Given the description of an element on the screen output the (x, y) to click on. 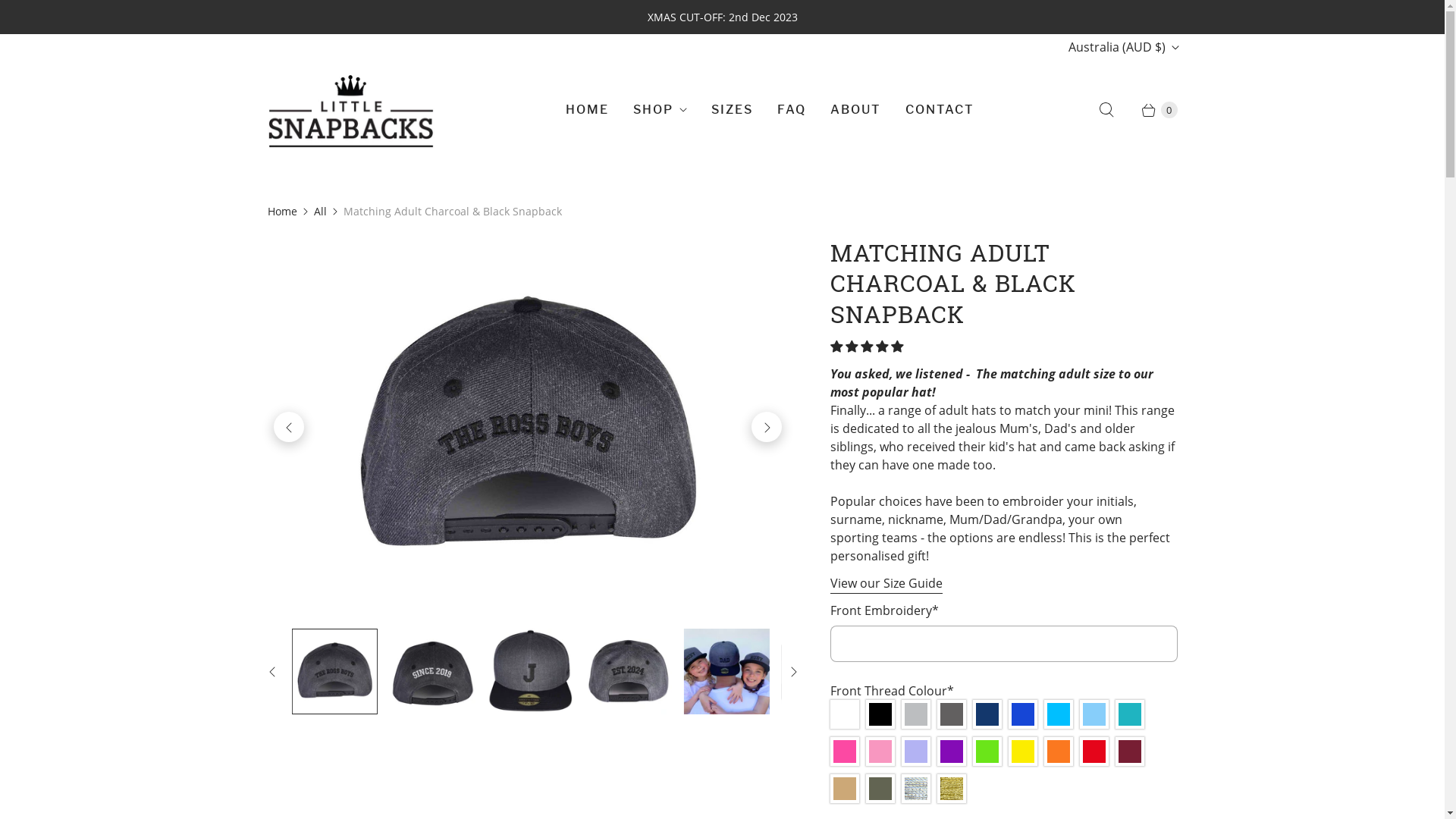
SIZES Element type: text (732, 109)
FAQ Element type: text (791, 109)
All Element type: text (319, 211)
ABOUT Element type: text (855, 109)
Home Element type: text (281, 211)
Australia (AUD $) Element type: text (1122, 46)
HOME Element type: text (587, 109)
View our Size Guide Element type: text (886, 583)
0 Element type: text (1151, 109)
CONTACT Element type: text (939, 109)
Custom Made Snapbacks Element type: hover (526, 426)
